Given the description of an element on the screen output the (x, y) to click on. 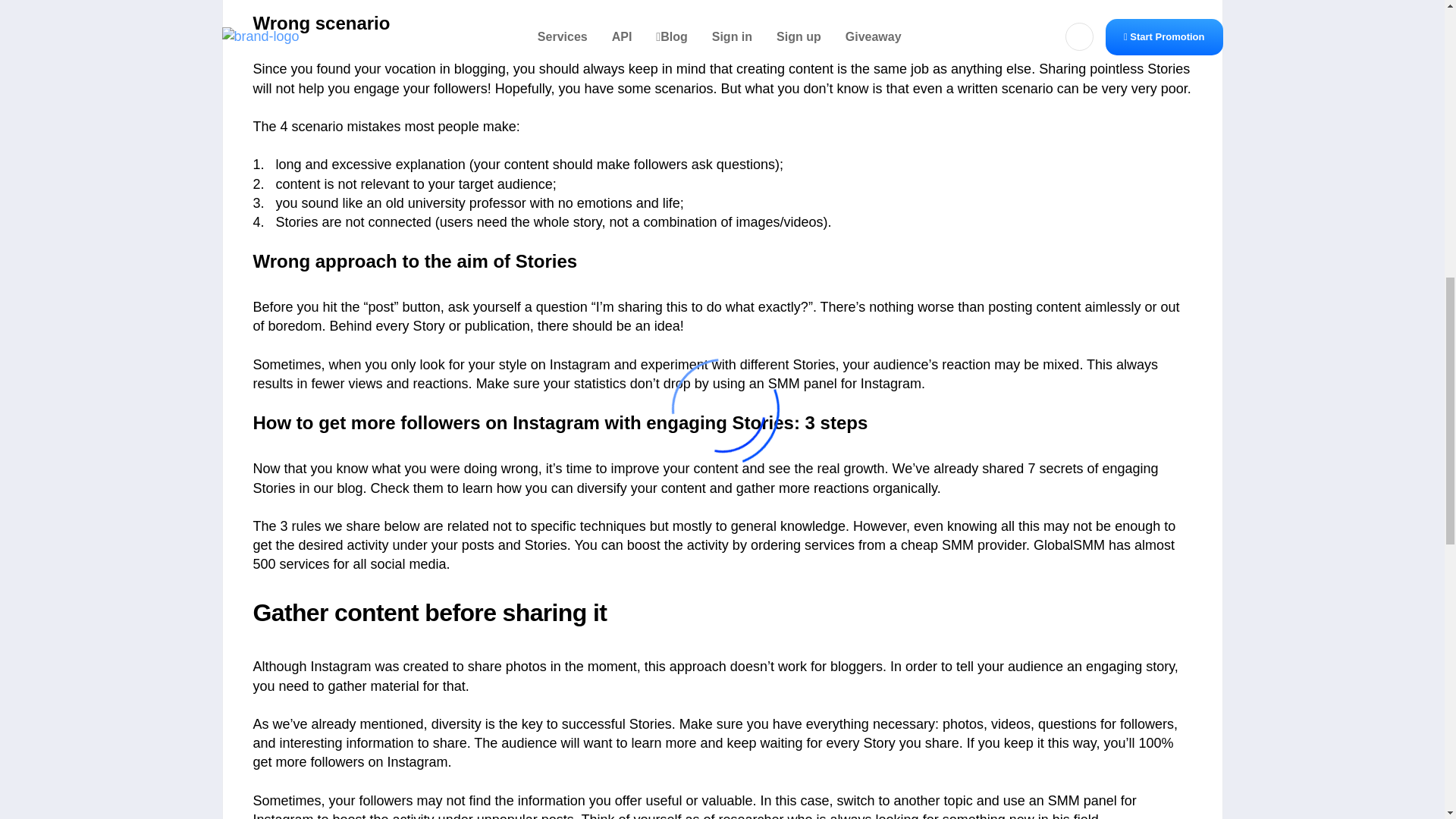
SMM panel for Instagram (844, 383)
7 secrets of engaging Stories (705, 478)
cheap SMM provider (963, 544)
